Given the description of an element on the screen output the (x, y) to click on. 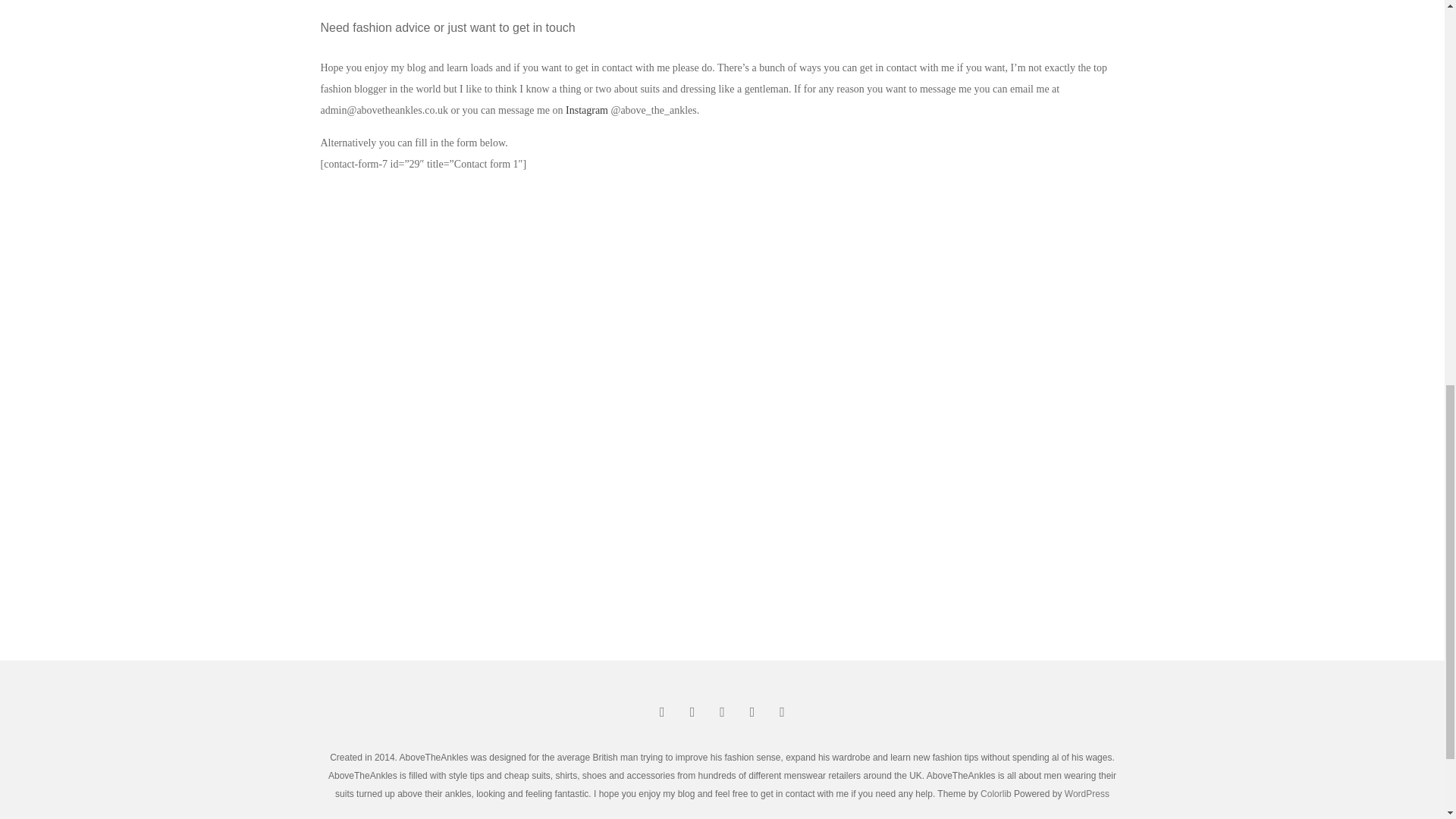
Instagram (587, 110)
WordPress (1086, 793)
Colorlib (995, 793)
